Given the description of an element on the screen output the (x, y) to click on. 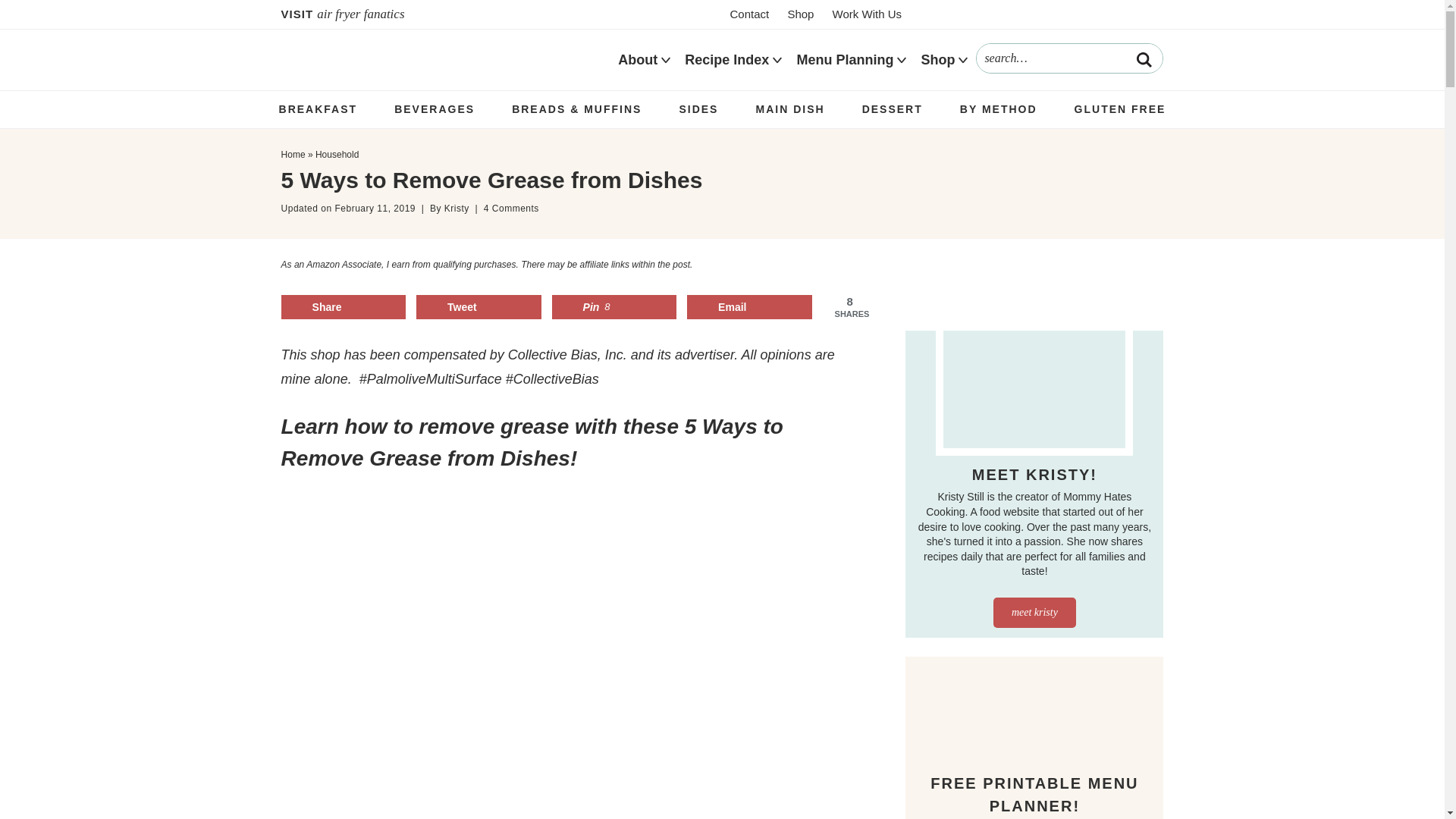
Share on Facebook (343, 306)
Send over email (749, 306)
About (637, 59)
Save to Pinterest (614, 306)
Work With Us (866, 13)
MOMMY HATES COOKING (435, 59)
Search for (1068, 58)
Share on X (478, 306)
Contact (749, 13)
Recipe Index (727, 59)
air fryer fanatics (375, 13)
Shop (799, 13)
